Given the description of an element on the screen output the (x, y) to click on. 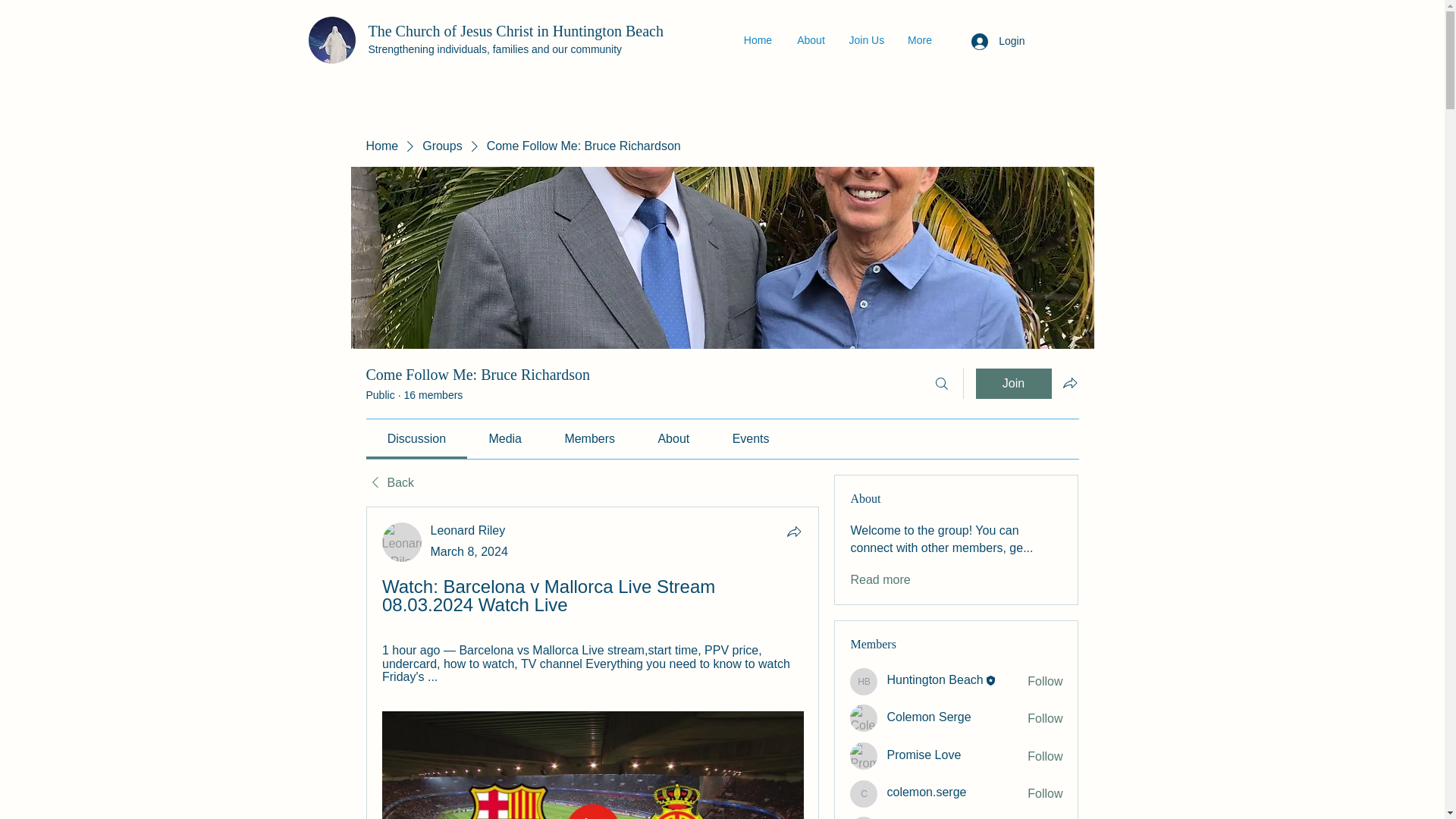
Colemon Serge (863, 718)
The Church of Jesus Christ in Huntington Beach (515, 30)
Leonard Riley (467, 530)
Join Us (866, 39)
Read more (880, 579)
Colemon Serge (928, 716)
Follow (1044, 681)
Leonard Riley (467, 530)
Follow (1044, 756)
Home (381, 146)
